Given the description of an element on the screen output the (x, y) to click on. 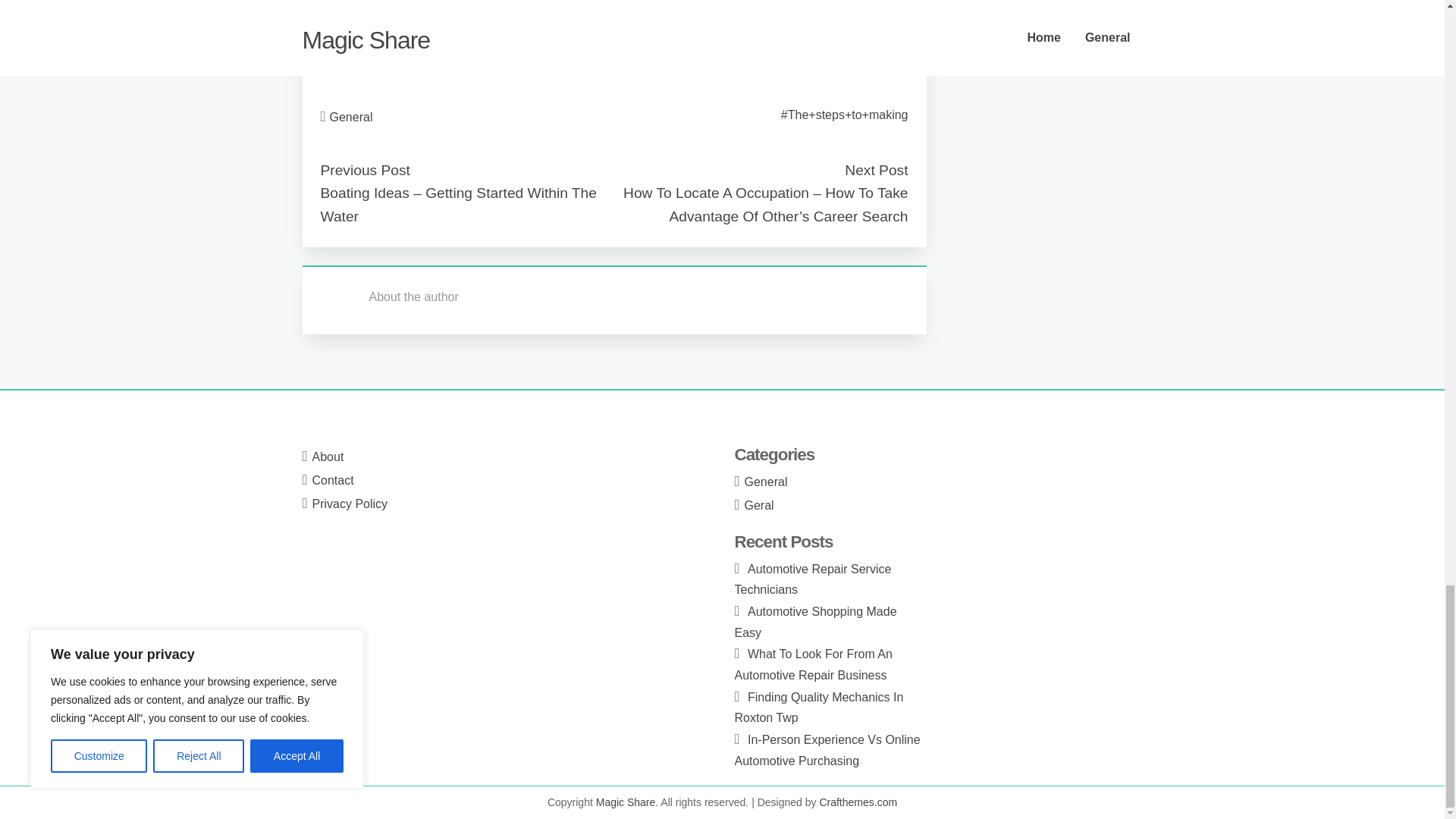
Previous Post (364, 170)
General (351, 116)
visit the following webpage (392, 25)
simply click the next site (384, 63)
Next Post (875, 170)
